Given the description of an element on the screen output the (x, y) to click on. 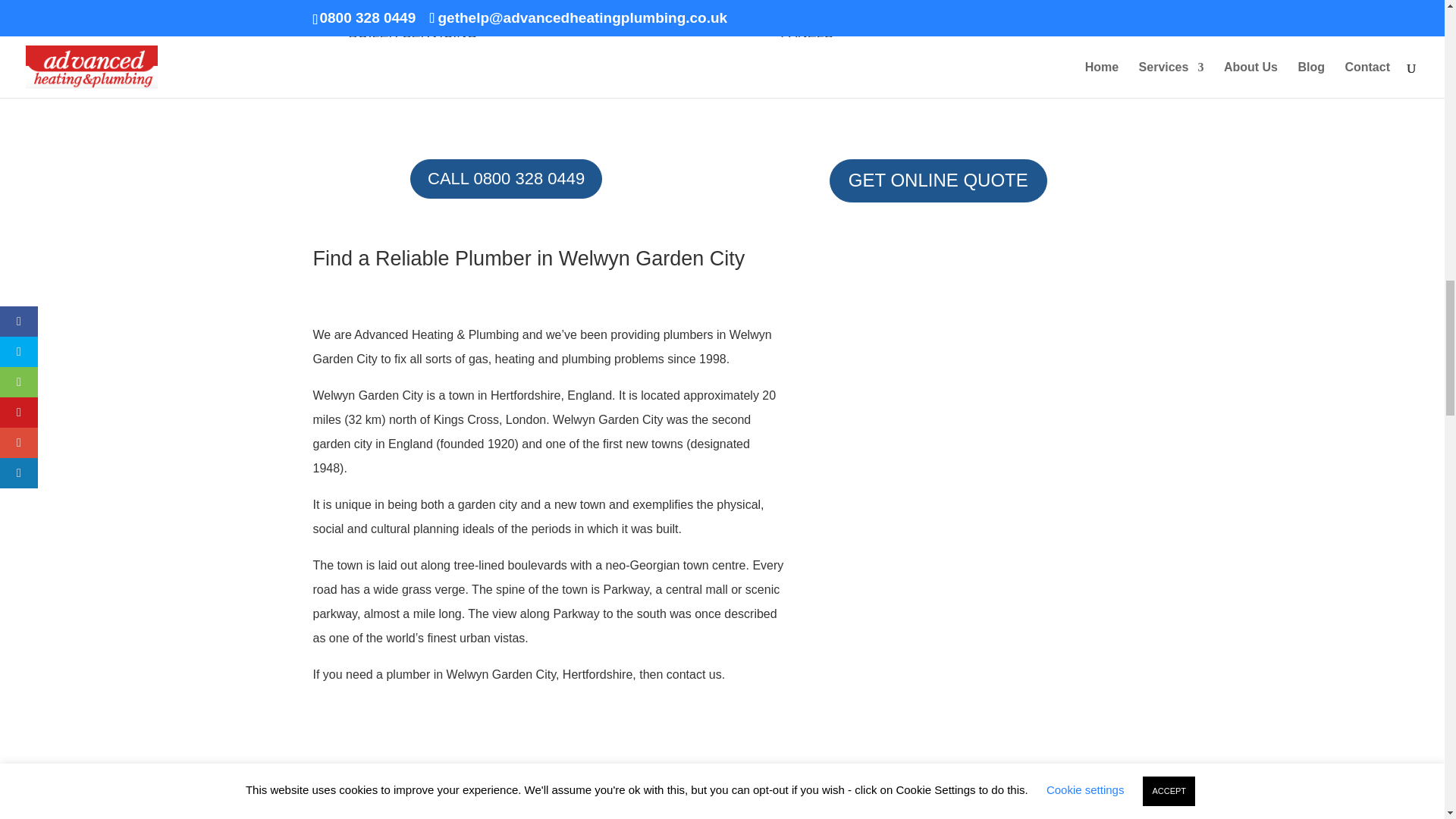
CALL 0800 328 0449 (506, 178)
Plumber in Welwyn Garden City (981, 668)
GET ONLINE QUOTE (937, 180)
